Given the description of an element on the screen output the (x, y) to click on. 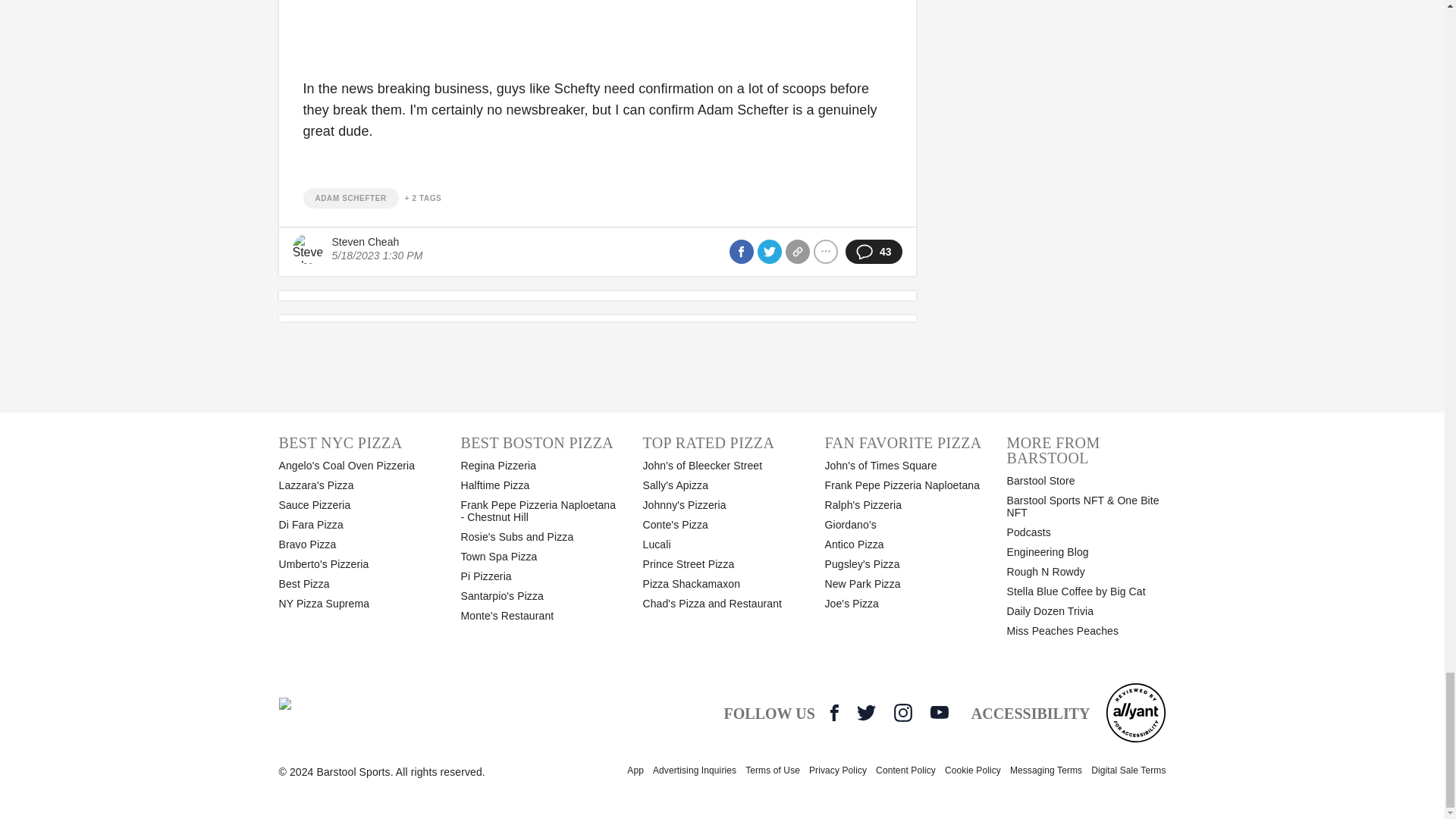
Facebook Icon (833, 712)
YouTube Icon (939, 711)
Reviewed by Allyant for accessibility (1135, 712)
Instagram Icon (902, 712)
Twitter Icon (866, 712)
